Given the description of an element on the screen output the (x, y) to click on. 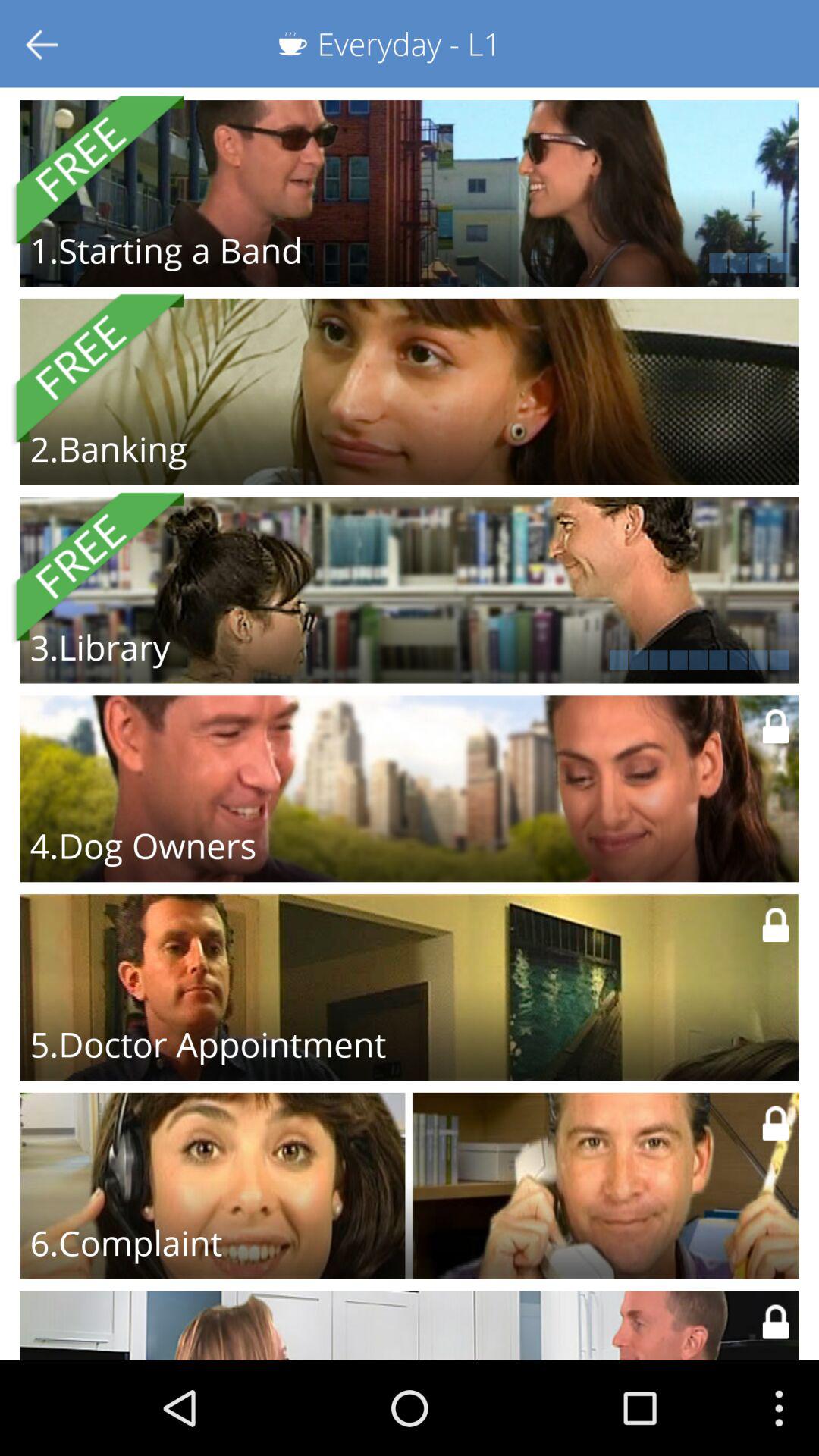
swipe until 5.doctor appointment item (208, 1043)
